Given the description of an element on the screen output the (x, y) to click on. 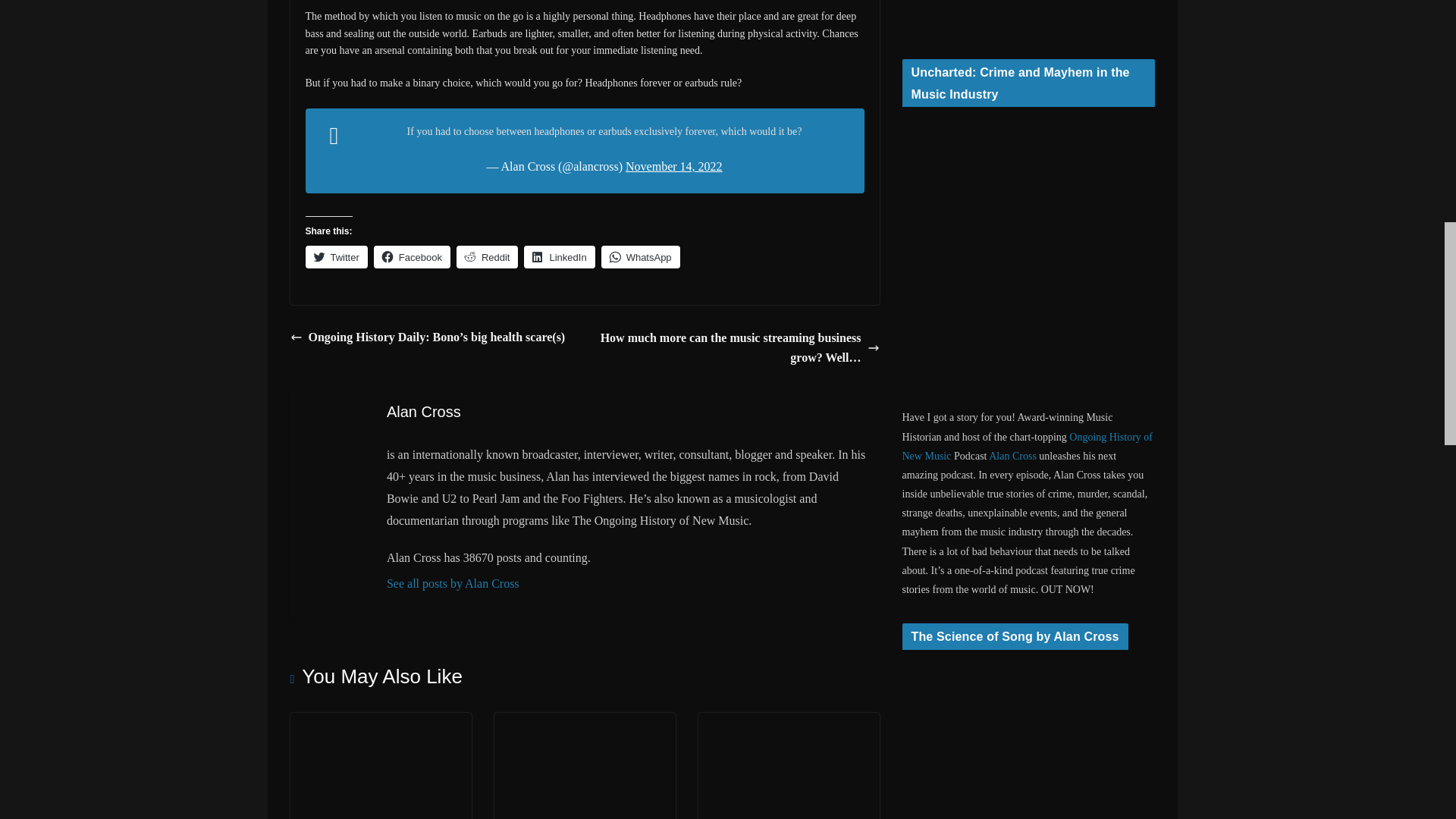
Twitter (335, 256)
Random music news for Monday, July 29, 2024 (585, 722)
Click to share on LinkedIn (559, 256)
Facebook (411, 256)
November 14, 2022 (674, 165)
Click to share on Twitter (335, 256)
Click to share on WhatsApp (640, 256)
Click to share on Facebook (411, 256)
See all posts by Alan Cross (627, 584)
